Given the description of an element on the screen output the (x, y) to click on. 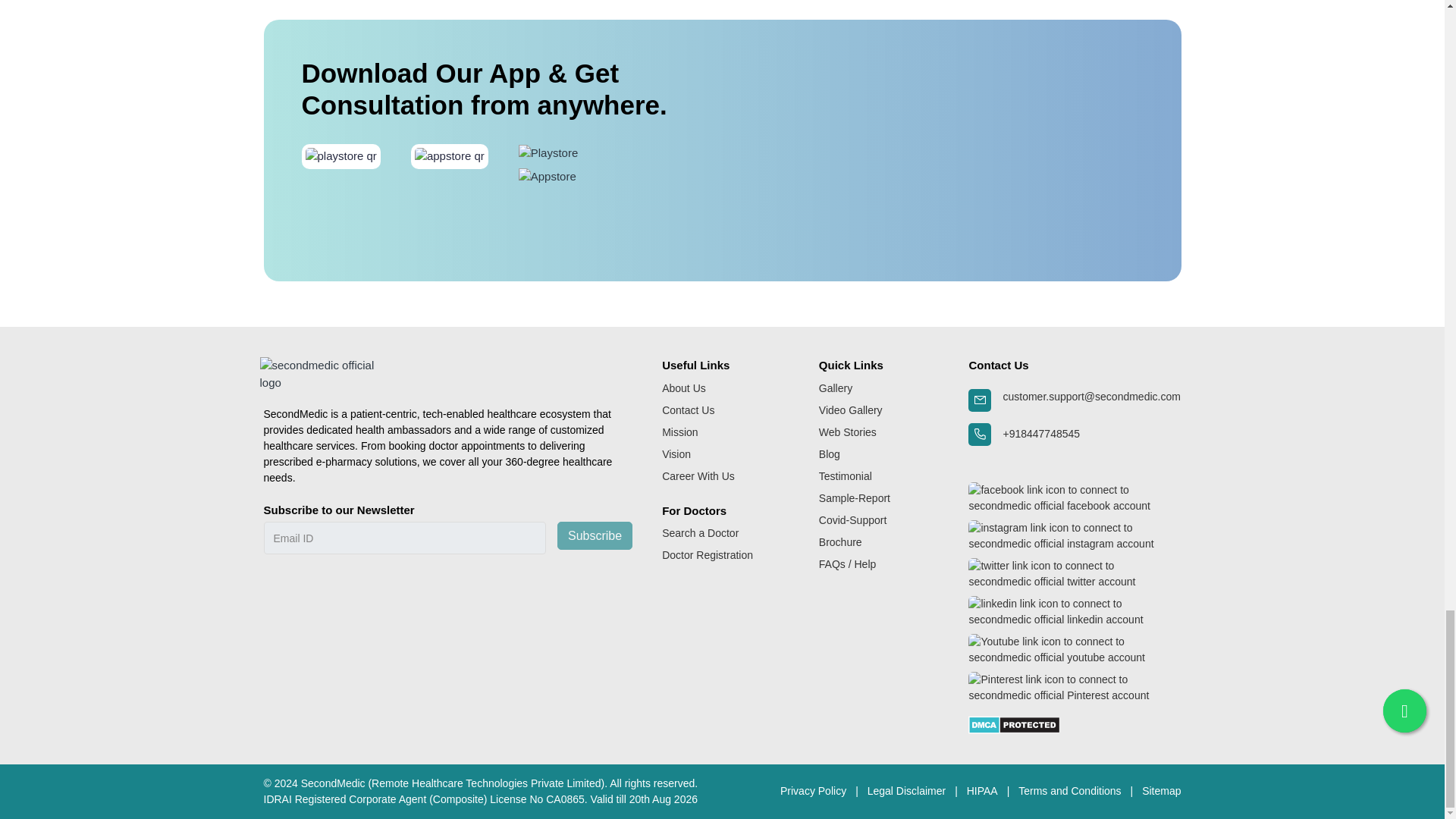
DMCA.com Protection Status (1013, 723)
Subscribe (594, 535)
